Given the description of an element on the screen output the (x, y) to click on. 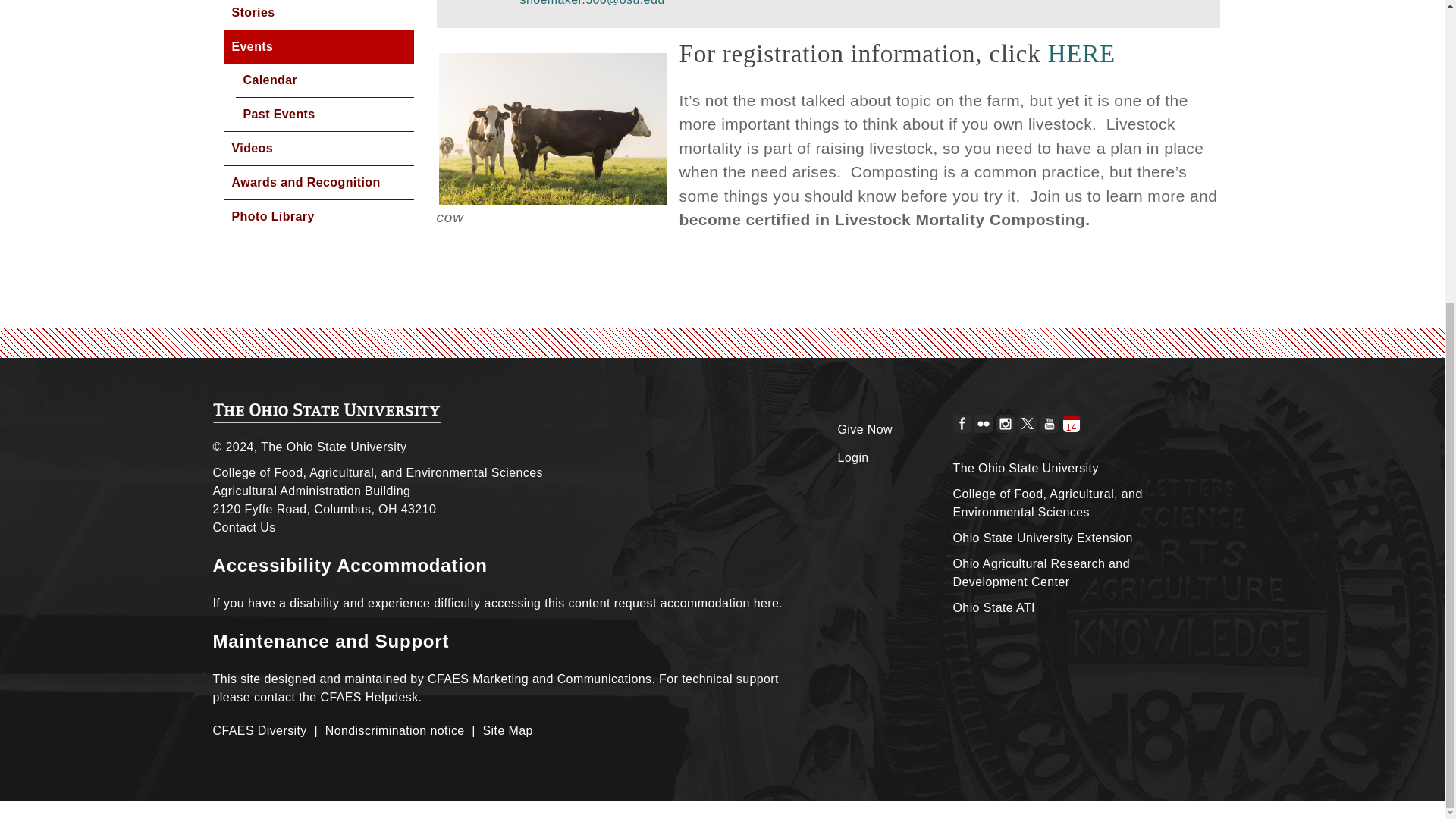
CFAES Home (325, 413)
cow (551, 128)
